Given the description of an element on the screen output the (x, y) to click on. 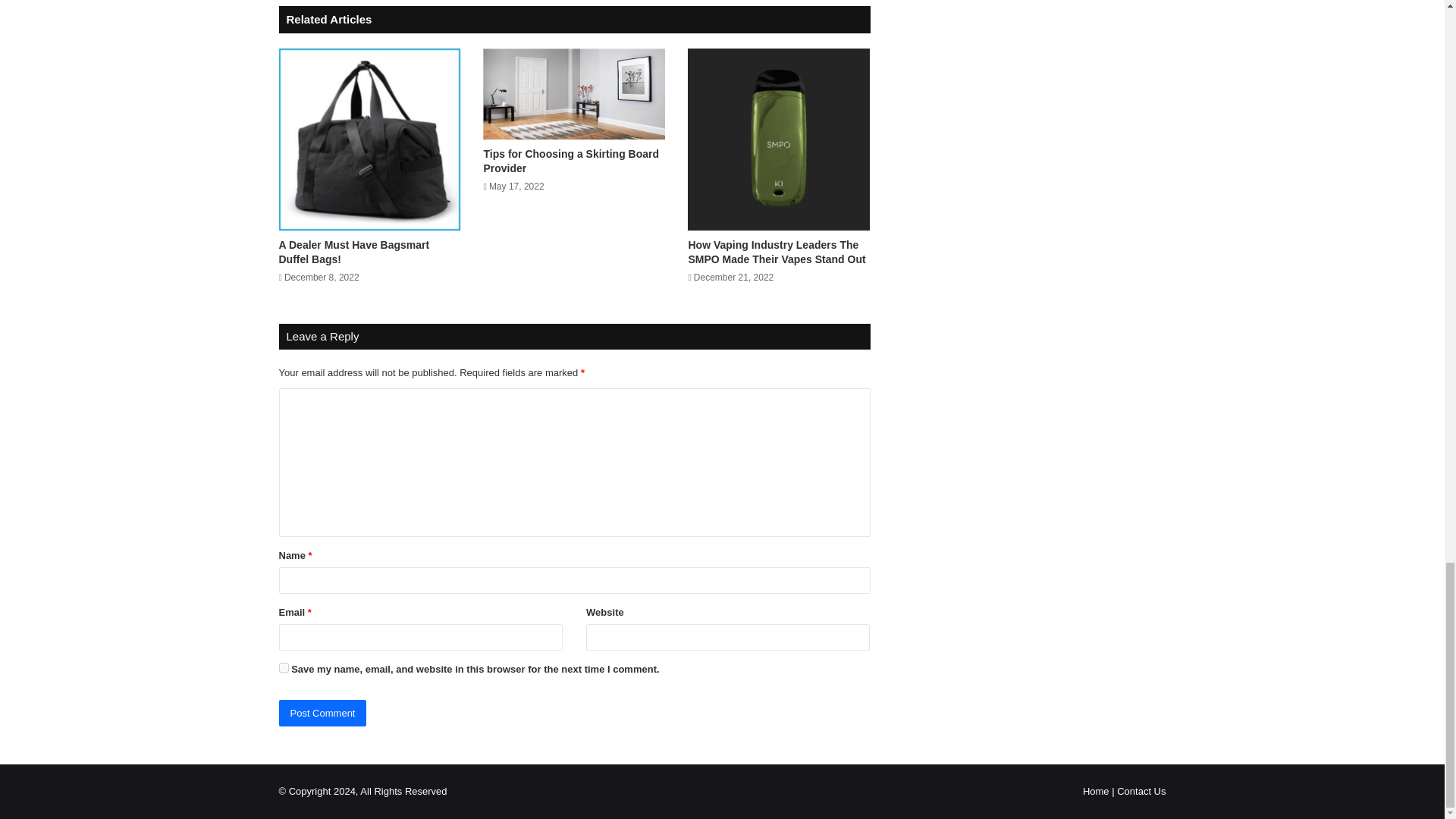
Post Comment (322, 713)
A Dealer Must Have Bagsmart Duffel Bags! (354, 252)
Tips for Choosing a Skirting Board Provider (571, 161)
yes (283, 667)
